Given the description of an element on the screen output the (x, y) to click on. 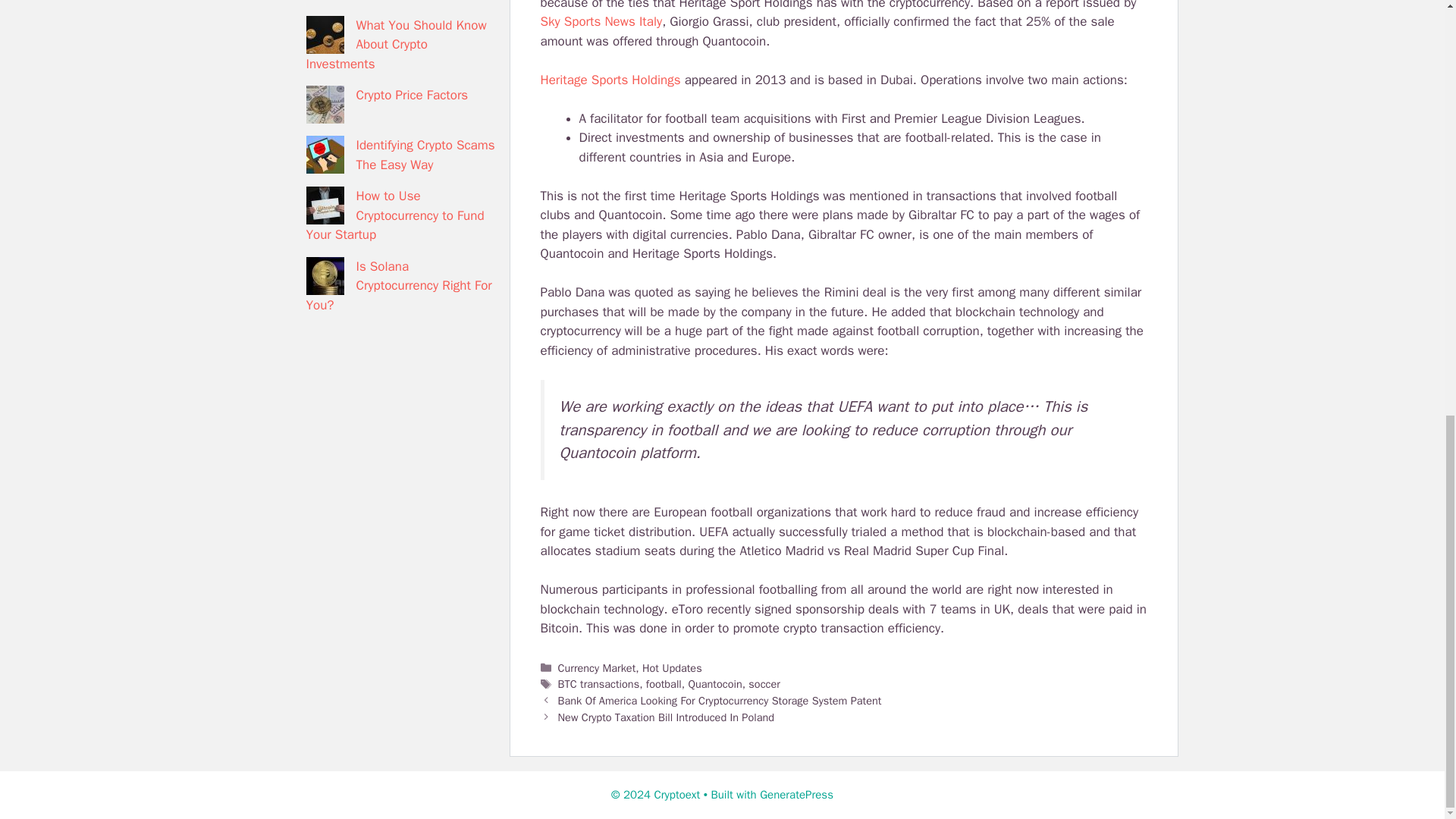
soccer (764, 684)
Sky Sports News Italy (601, 21)
Identifying Crypto Scams The Easy Way (425, 154)
football (663, 684)
Heritage Sports Holdings (609, 79)
New Crypto Taxation Bill Introduced In Poland (665, 716)
What You Should Know About Crypto Investments (395, 44)
Quantocoin (714, 684)
BTC transactions (598, 684)
Crypto Price Factors (412, 94)
Hot Updates (671, 667)
Currency Market (596, 667)
